Given the description of an element on the screen output the (x, y) to click on. 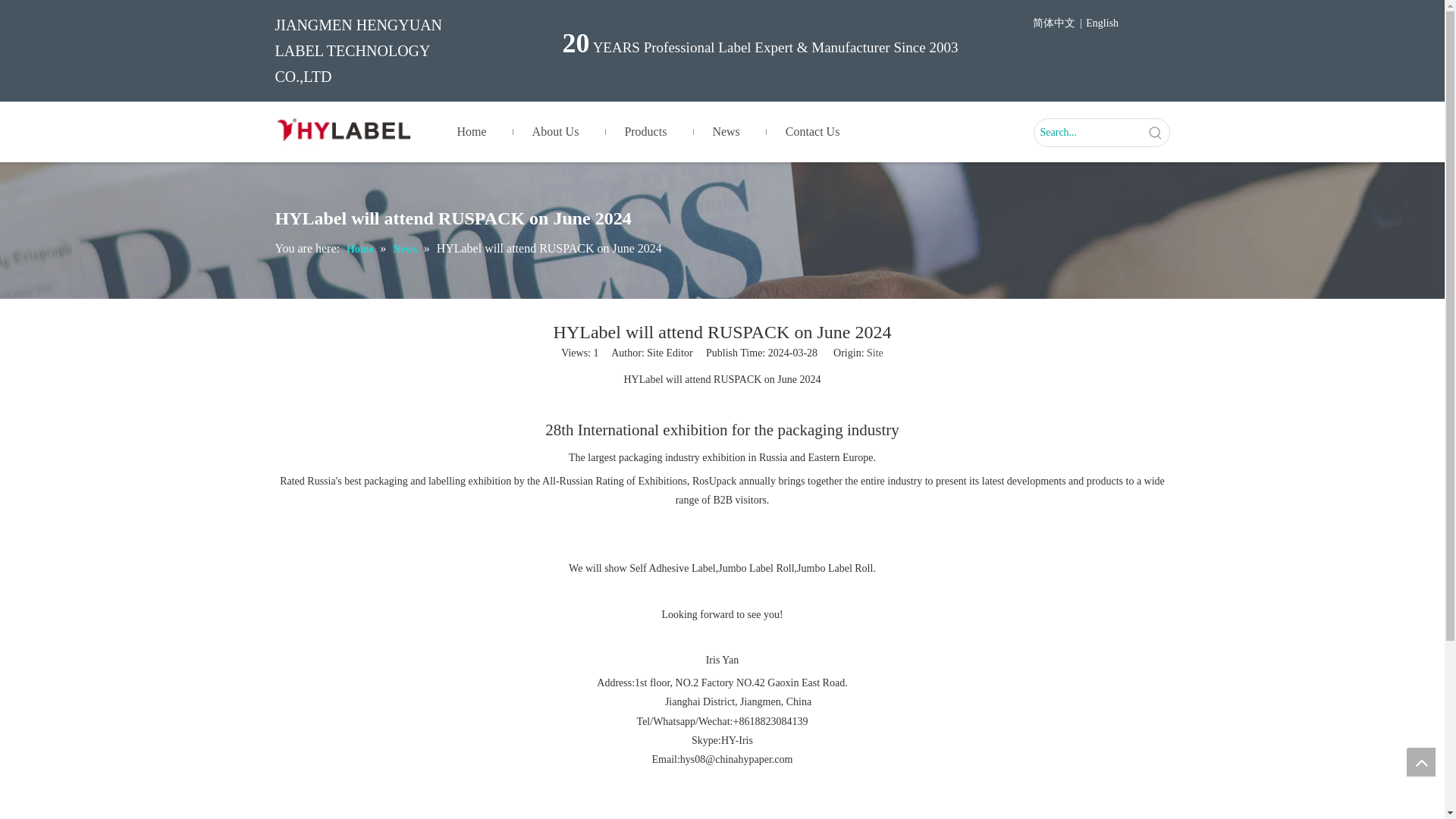
News (724, 131)
Site (874, 352)
Home (360, 248)
English (1102, 23)
News (406, 248)
Home (470, 131)
LOGO (342, 130)
Contact Us (812, 131)
About Us (555, 131)
Products (644, 131)
